Given the description of an element on the screen output the (x, y) to click on. 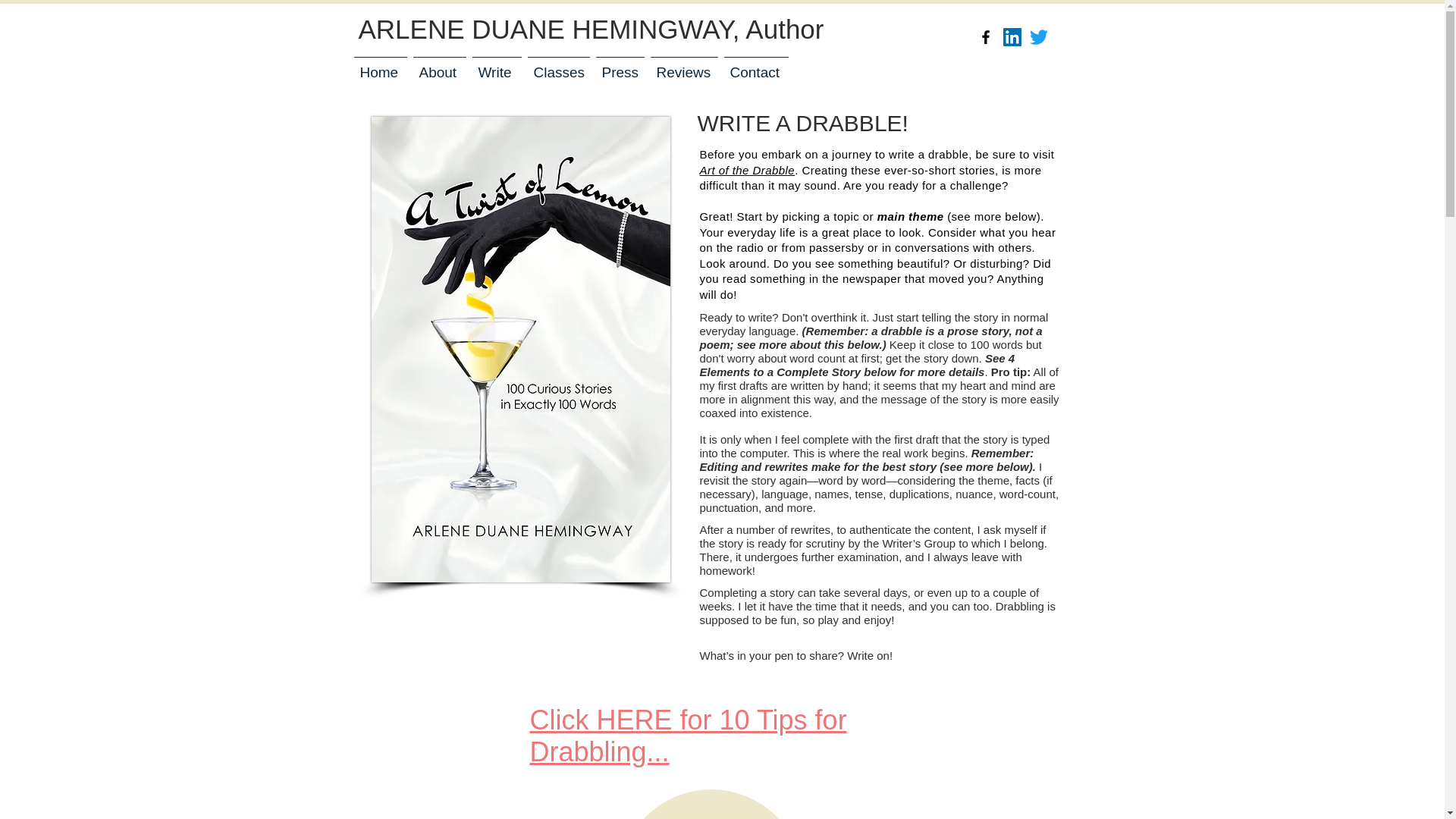
Home (379, 65)
Conversion Popup (722, 15)
Classes (558, 65)
ARLENE DUANE HEMINGWAY, Author (591, 29)
Reviews (683, 65)
Art of the Drabble (746, 169)
Press (619, 65)
Click HERE for 10 Tips for Drabbling... (687, 735)
Contact (755, 65)
